Given the description of an element on the screen output the (x, y) to click on. 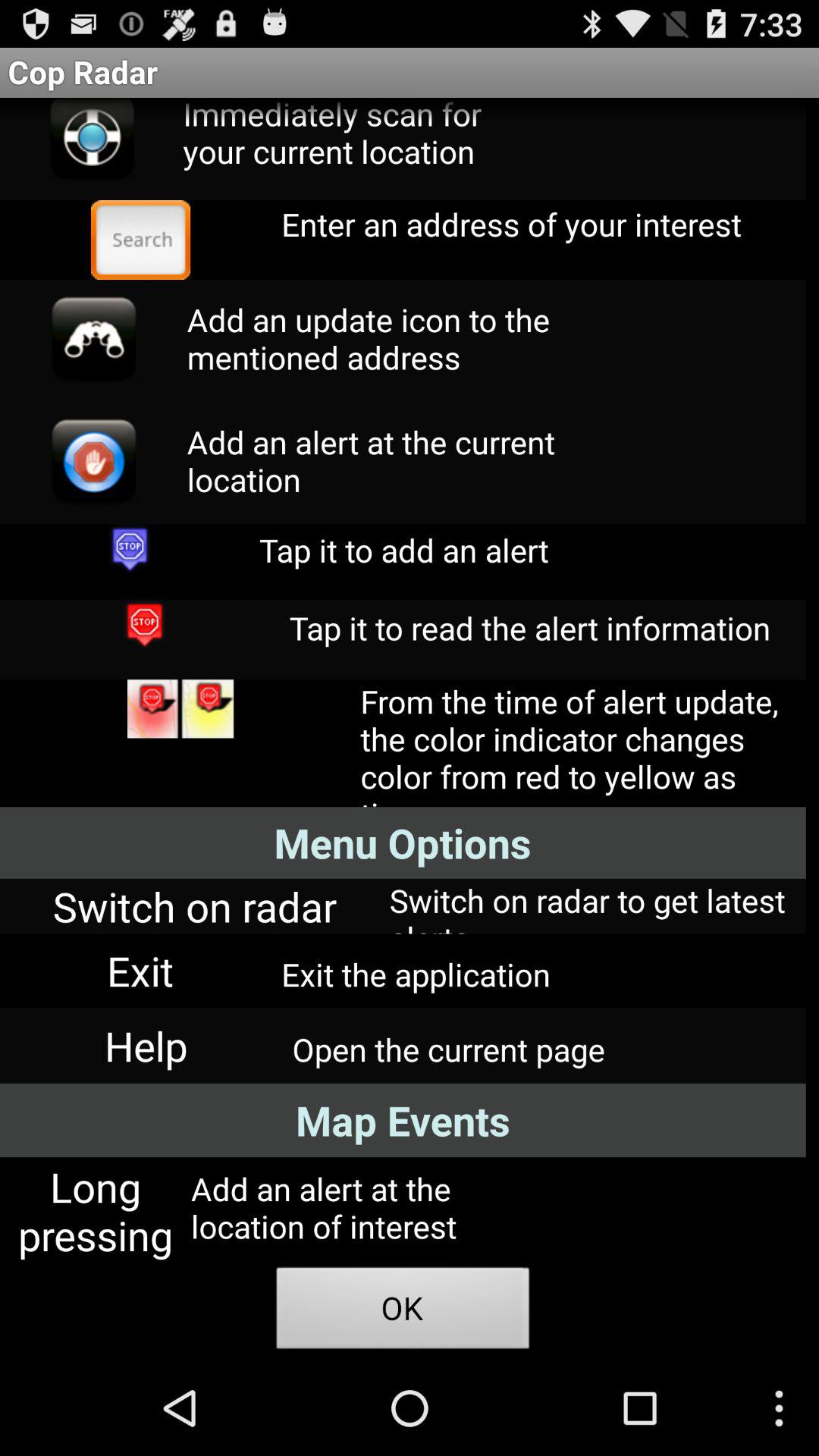
select the item next to the long pressing (403, 1312)
